Given the description of an element on the screen output the (x, y) to click on. 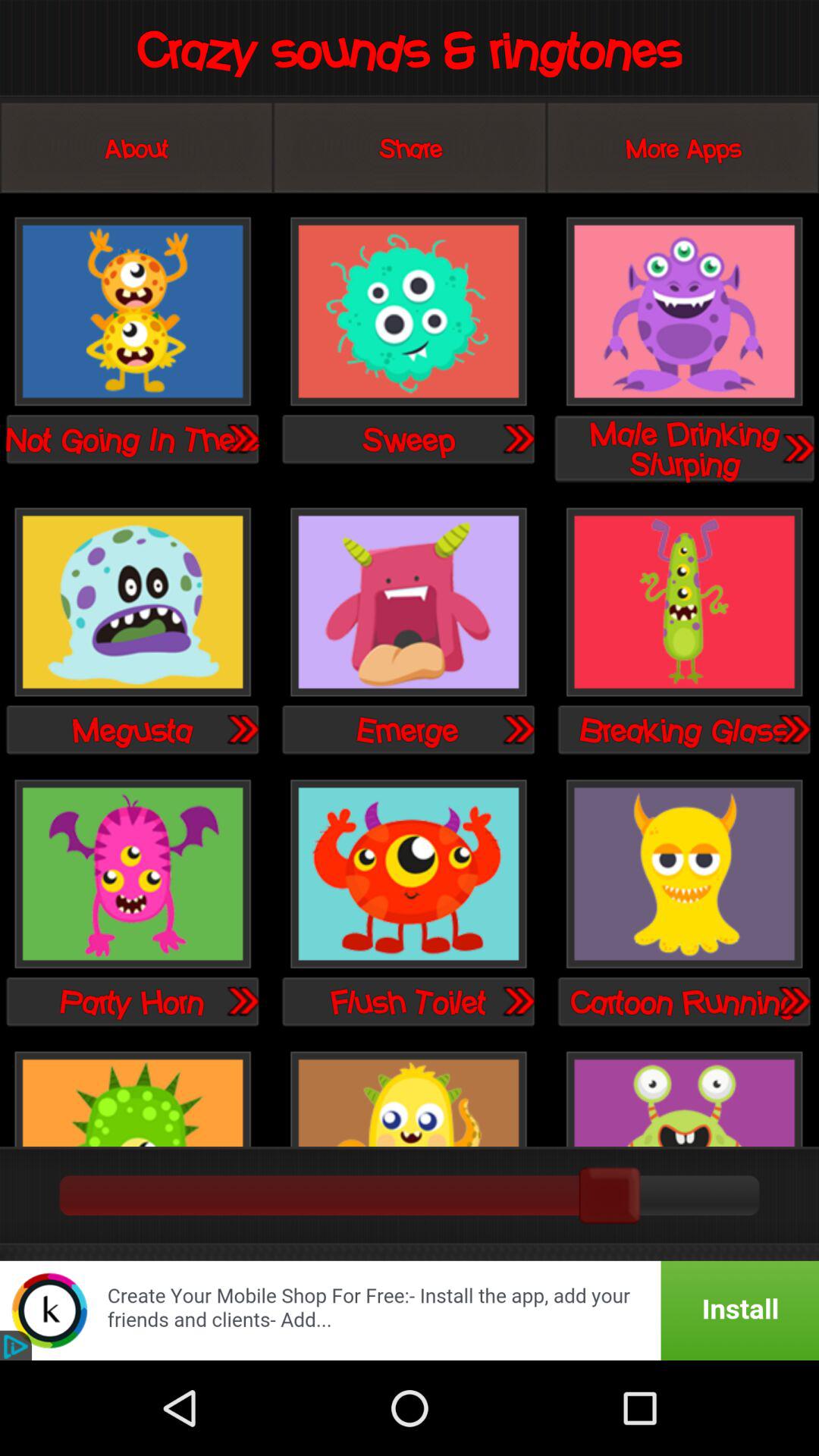
play sound emerge (518, 728)
